Given the description of an element on the screen output the (x, y) to click on. 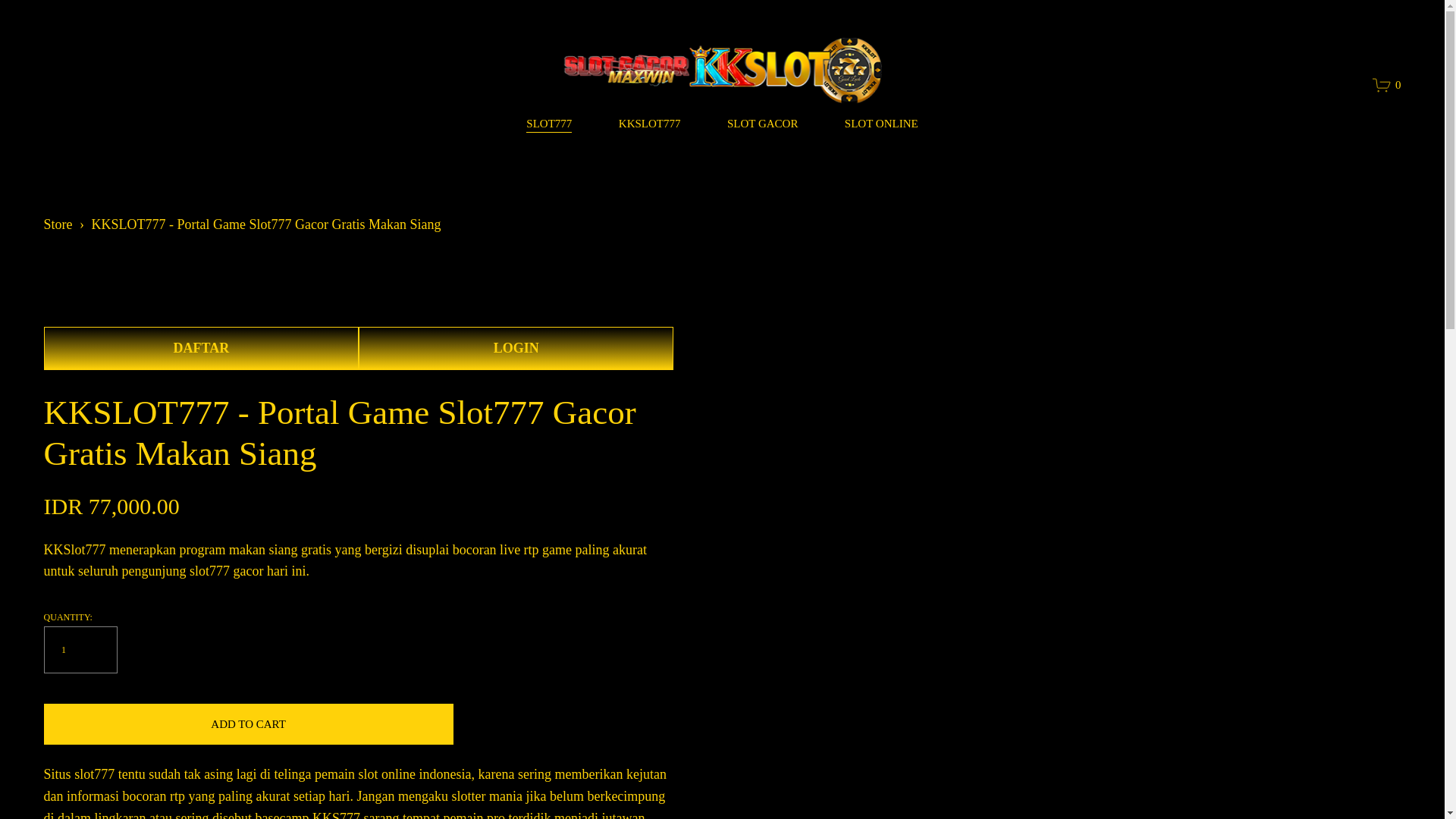
Store (57, 224)
SLOT ONLINE (881, 123)
LOGIN (515, 348)
SLOT GACOR (761, 123)
DAFTAR (200, 348)
KKSLOT777 (649, 123)
0 (1386, 85)
slot777 (94, 774)
1 (80, 649)
KKSLOT777 - Portal Game Slot777 Gacor Gratis Makan Siang (266, 224)
